Given the description of an element on the screen output the (x, y) to click on. 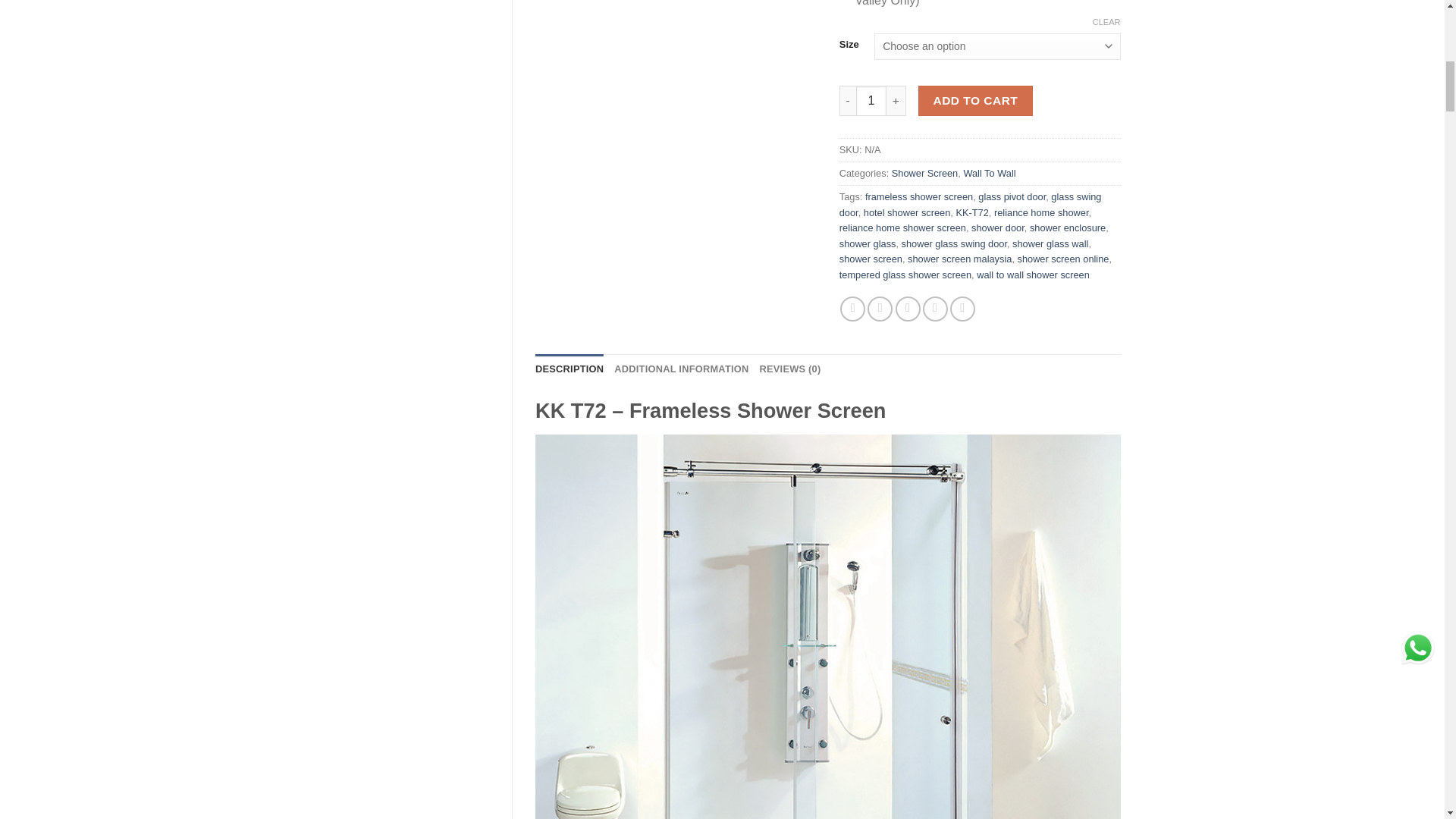
Email to a Friend (907, 308)
Share on Facebook (852, 308)
Share on LinkedIn (962, 308)
1 (871, 100)
Pin on Pinterest (935, 308)
Share on Twitter (879, 308)
